Given the description of an element on the screen output the (x, y) to click on. 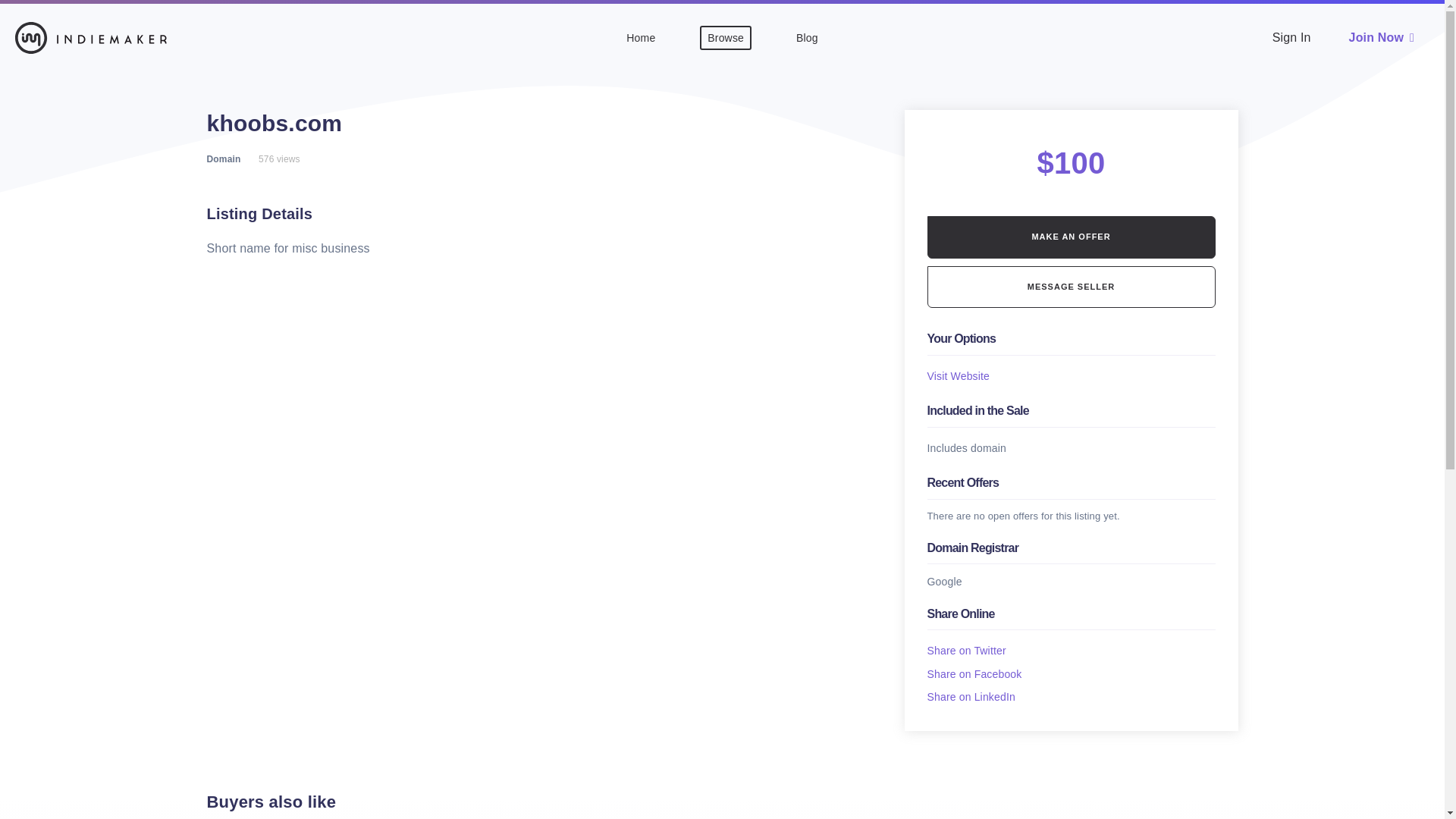
IndieMaker Blog (807, 37)
Share khoobs.com on Facebook (974, 674)
IndieMaker (90, 37)
Sign In (1291, 37)
Home (641, 37)
Message the Seller (1071, 287)
Share khoobs.com on Twitter (966, 650)
MAKE AN OFFER (1071, 237)
Share on LinkedIn (970, 696)
Visit Website (958, 376)
Sign In (1291, 37)
Join Now (1381, 37)
Visit Website (958, 376)
Home Page (641, 37)
